Given the description of an element on the screen output the (x, y) to click on. 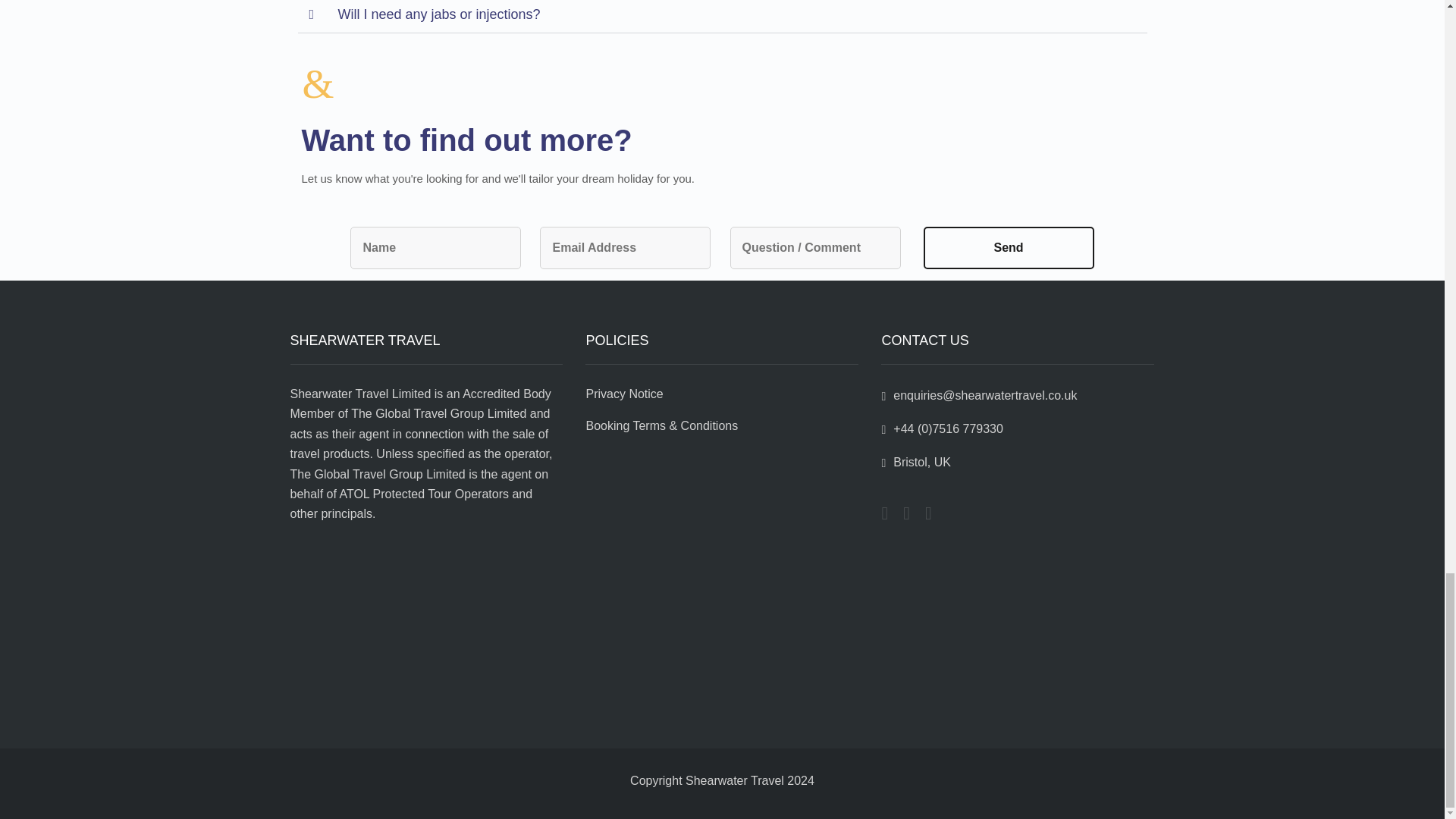
Page 1 (425, 454)
Send (1008, 247)
